Given the description of an element on the screen output the (x, y) to click on. 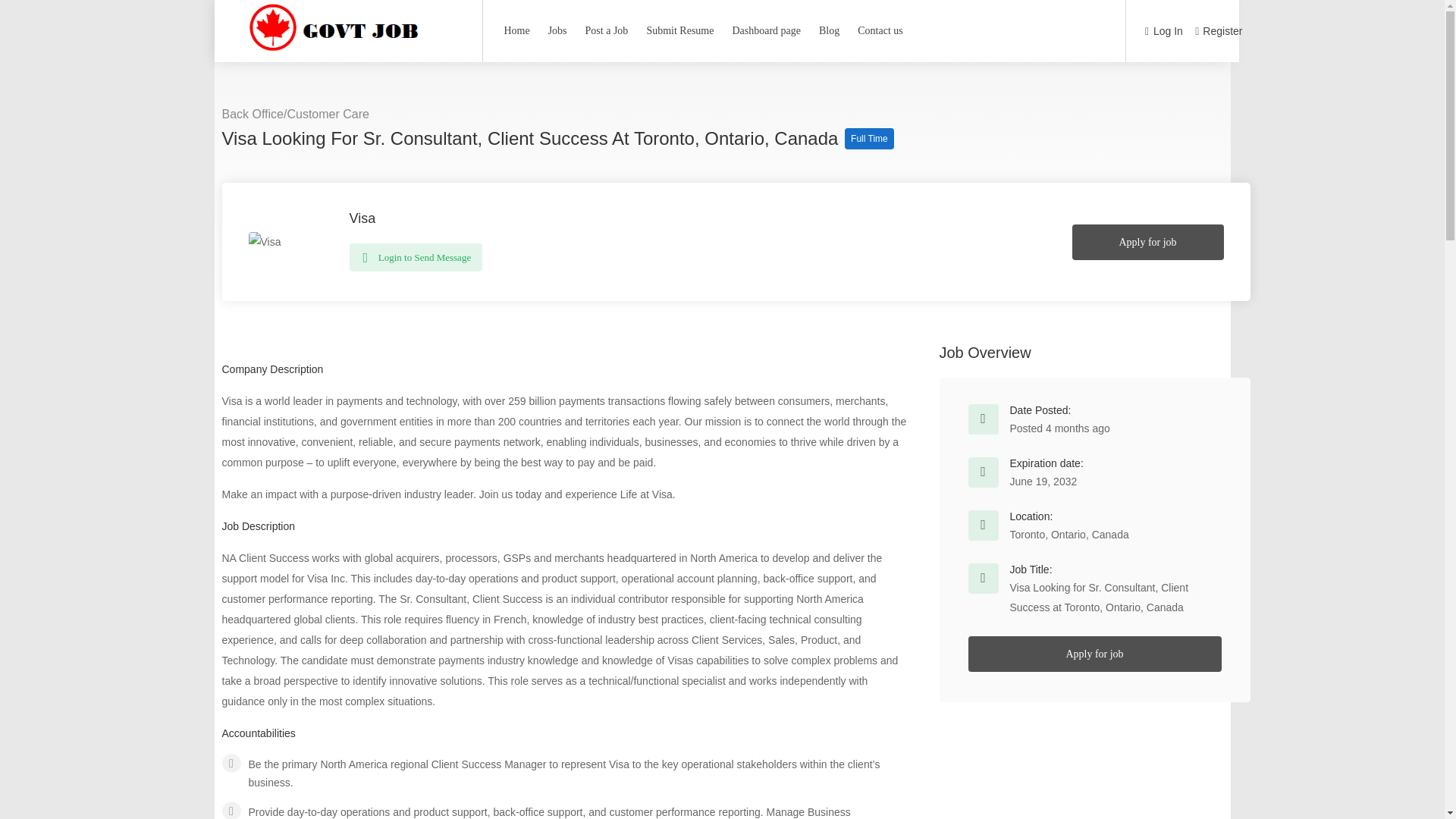
Canada Government Jobs (342, 51)
Blog (828, 30)
Submit Resume (679, 30)
Dashboard page (766, 30)
Post a Job (606, 30)
Login to Send Message (415, 257)
Jobs (557, 30)
Contact us (879, 30)
Home (516, 30)
